Given the description of an element on the screen output the (x, y) to click on. 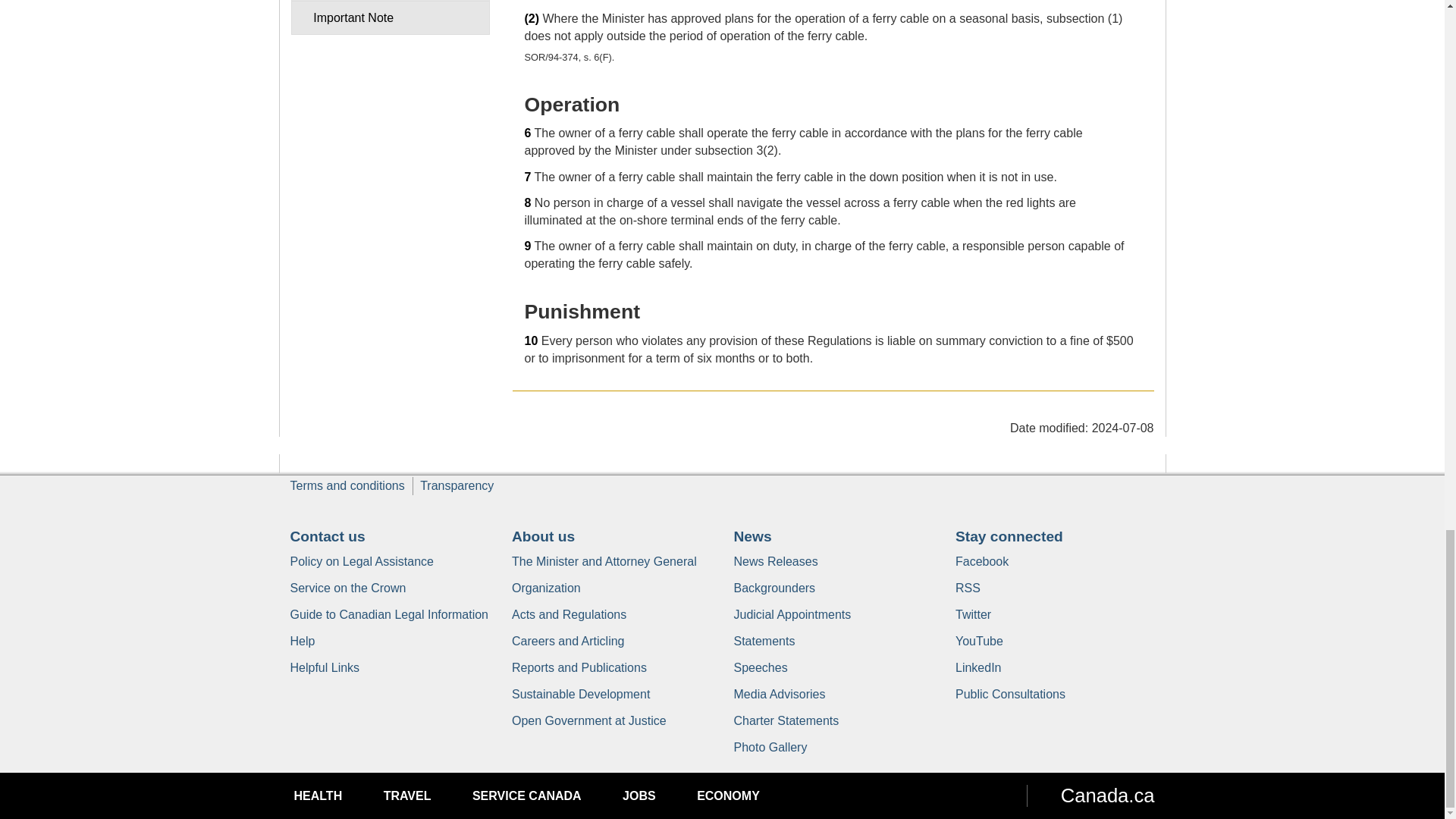
8 (527, 202)
7 (527, 176)
6 (527, 132)
